Given the description of an element on the screen output the (x, y) to click on. 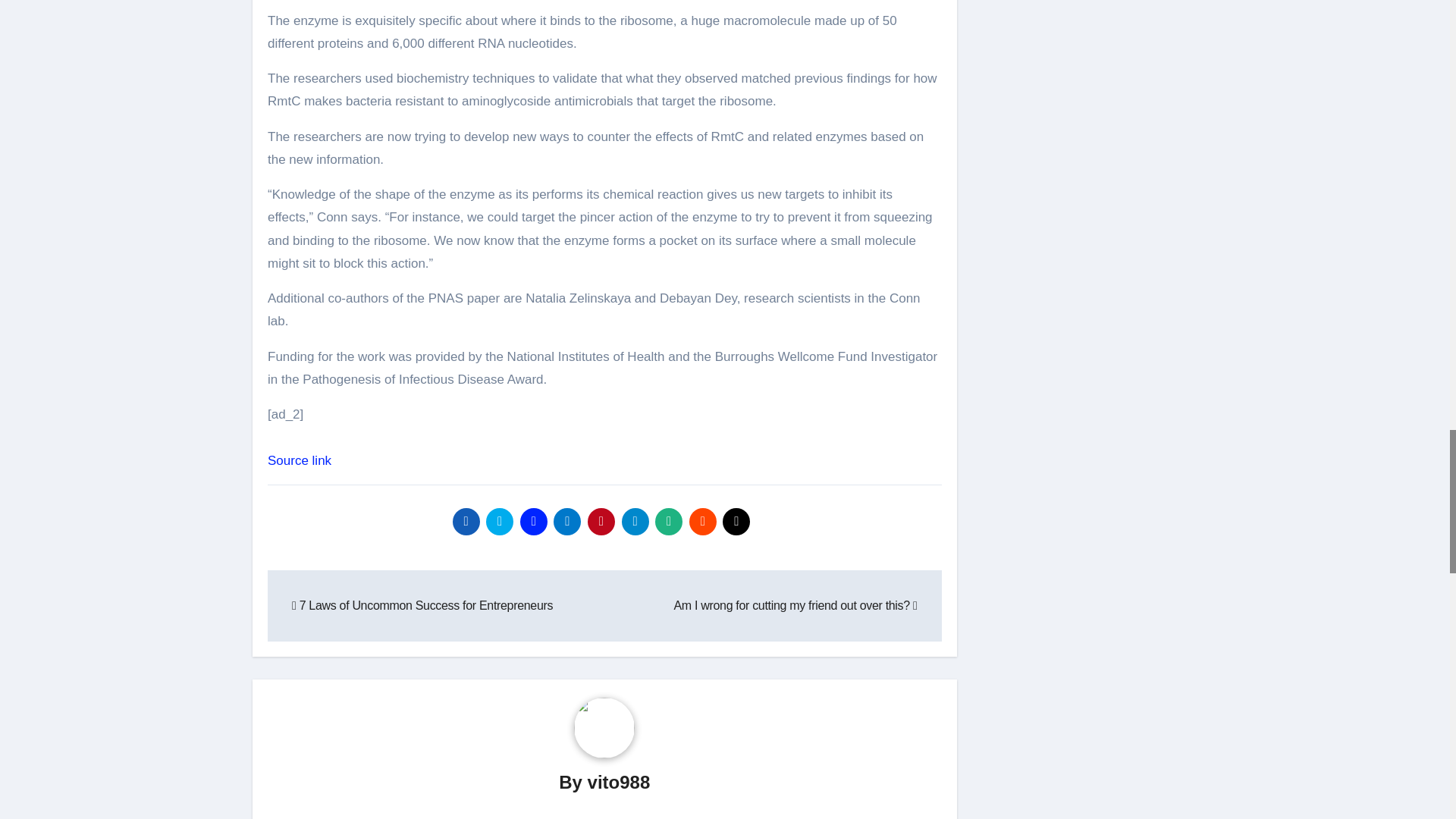
Source link (299, 460)
